Given the description of an element on the screen output the (x, y) to click on. 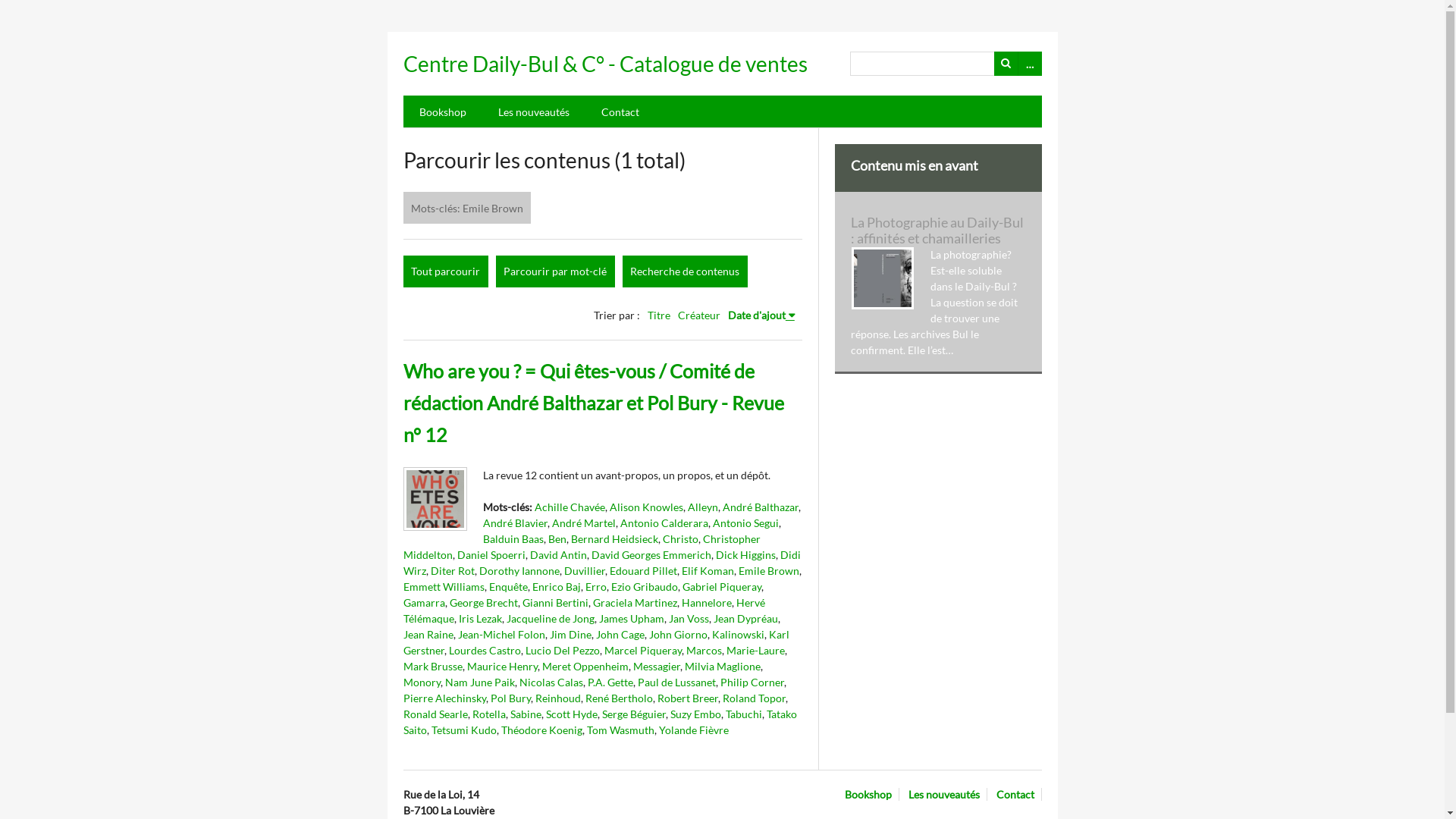
Emmett Williams Element type: text (443, 586)
Antonio Segui Element type: text (745, 522)
Lourdes Castro Element type: text (484, 649)
Christo Element type: text (680, 538)
Tetsumi Kudo Element type: text (462, 729)
Milvia Maglione Element type: text (721, 665)
Gianni Bertini Element type: text (554, 602)
John Giorno Element type: text (678, 633)
Edouard Pillet Element type: text (643, 570)
Messagier Element type: text (655, 665)
Titre Element type: text (658, 314)
Contact Element type: text (620, 111)
Marcel Piqueray Element type: text (641, 649)
Sabine Element type: text (524, 713)
Diter Rot Element type: text (452, 570)
Nicolas Calas Element type: text (550, 681)
Dorothy Iannone Element type: text (519, 570)
Christopher Middelton Element type: text (581, 546)
Erro Element type: text (595, 586)
Alleyn Element type: text (702, 506)
Antonio Calderara Element type: text (664, 522)
Jean Raine Element type: text (428, 633)
David Antin Element type: text (557, 554)
Jan Voss Element type: text (688, 617)
Elif Koman Element type: text (706, 570)
Meret Oppenheim Element type: text (584, 665)
Paul de Lussanet Element type: text (676, 681)
Contact Element type: text (1018, 793)
Balduin Baas Element type: text (512, 538)
Nam June Paik Element type: text (479, 681)
David Georges Emmerich Element type: text (651, 554)
Recherche Element type: text (1005, 63)
Recherche de contenus Element type: text (683, 271)
P.A. Gette Element type: text (609, 681)
James Upham Element type: text (631, 617)
DAILY-BUL Couv.3 def full.jpg Element type: hover (882, 278)
Reinhoud Element type: text (557, 697)
Dick Higgins Element type: text (745, 554)
Kalinowski Element type: text (737, 633)
Enrico Baj Element type: text (556, 586)
Tout parcourir Element type: text (445, 271)
Lucio Del Pezzo Element type: text (561, 649)
Suzy Embo Element type: text (695, 713)
Graciela Martinez Element type: text (635, 602)
ARC-DABU-BDB-R00233-0001 (2).jpg Element type: hover (435, 498)
Marcos Element type: text (703, 649)
Gamarra Element type: text (424, 602)
George Brecht Element type: text (482, 602)
Rotella Element type: text (488, 713)
Bernard Heidsieck Element type: text (613, 538)
Maurice Henry Element type: text (502, 665)
Monory Element type: text (421, 681)
Jacqueline de Jong Element type: text (550, 617)
Roland Topor Element type: text (752, 697)
Tom Wasmuth Element type: text (620, 729)
Duvillier Element type: text (584, 570)
Ronald Searle Element type: text (435, 713)
Mark Brusse Element type: text (432, 665)
Emile Brown Element type: text (768, 570)
Bookshop Element type: text (442, 111)
Alison Knowles Element type: text (646, 506)
Iris Lezak Element type: text (479, 617)
Tatako Saito Element type: text (600, 721)
Philip Corner Element type: text (752, 681)
Jean-Michel Folon Element type: text (501, 633)
Recherche Element type: hover (945, 63)
Date d'ajout Element type: text (761, 314)
Ben Element type: text (556, 538)
Gabriel Piqueray Element type: text (721, 586)
Pol Bury Element type: text (509, 697)
Marie-Laure Element type: text (755, 649)
Jim Dine Element type: text (569, 633)
Bookshop Element type: text (871, 793)
Robert Breer Element type: text (686, 697)
Daniel Spoerri Element type: text (490, 554)
John Cage Element type: text (620, 633)
Scott Hyde Element type: text (571, 713)
Tabuchi Element type: text (742, 713)
Pierre Alechinsky Element type: text (444, 697)
Hannelore Element type: text (705, 602)
Karl Gerstner Element type: text (596, 641)
Didi Wirz Element type: text (601, 562)
Ezio Gribaudo Element type: text (644, 586)
